Given the description of an element on the screen output the (x, y) to click on. 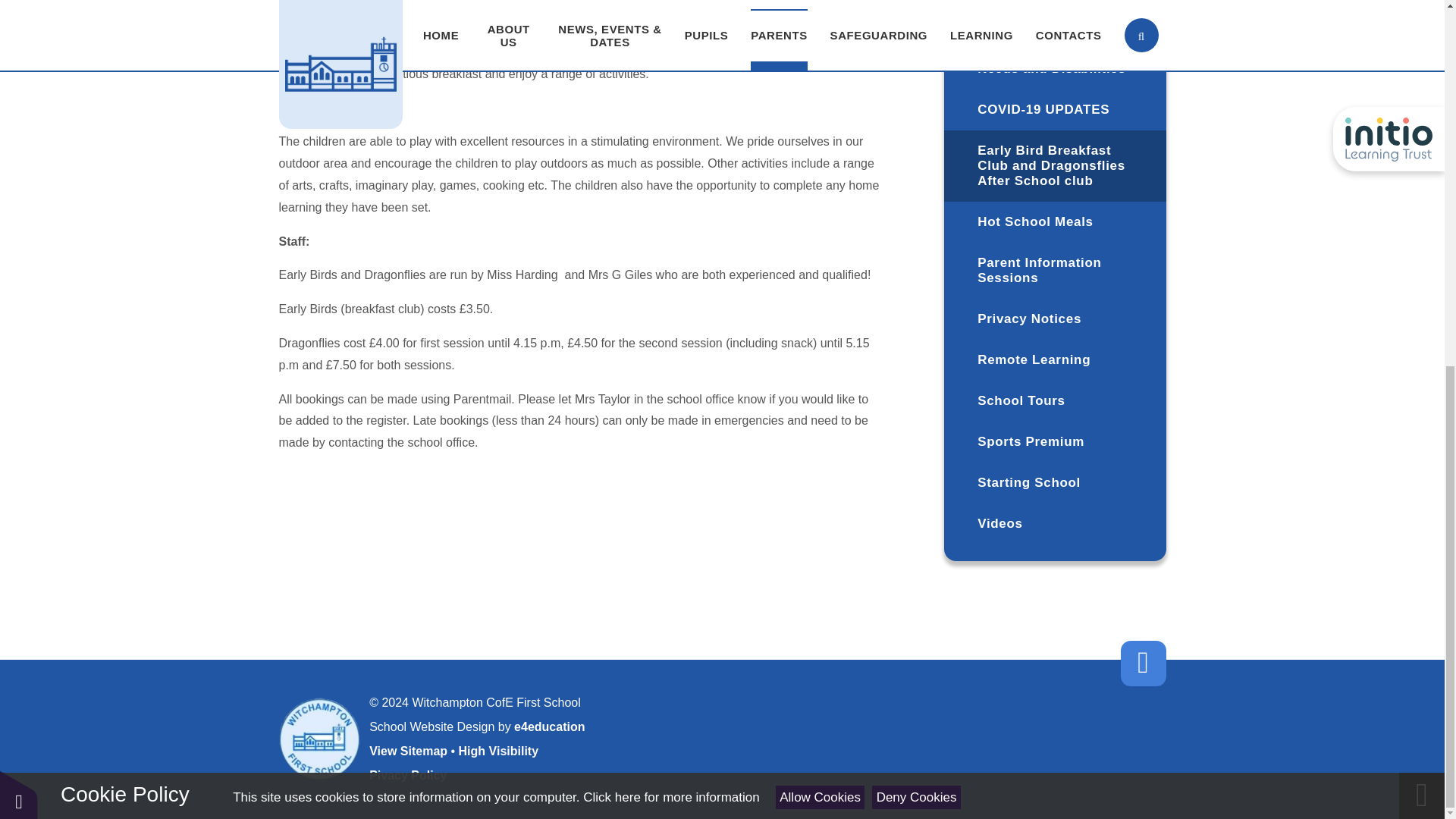
See cookie policy (670, 137)
Allow Cookies (820, 137)
Deny Cookies (915, 137)
